Given the description of an element on the screen output the (x, y) to click on. 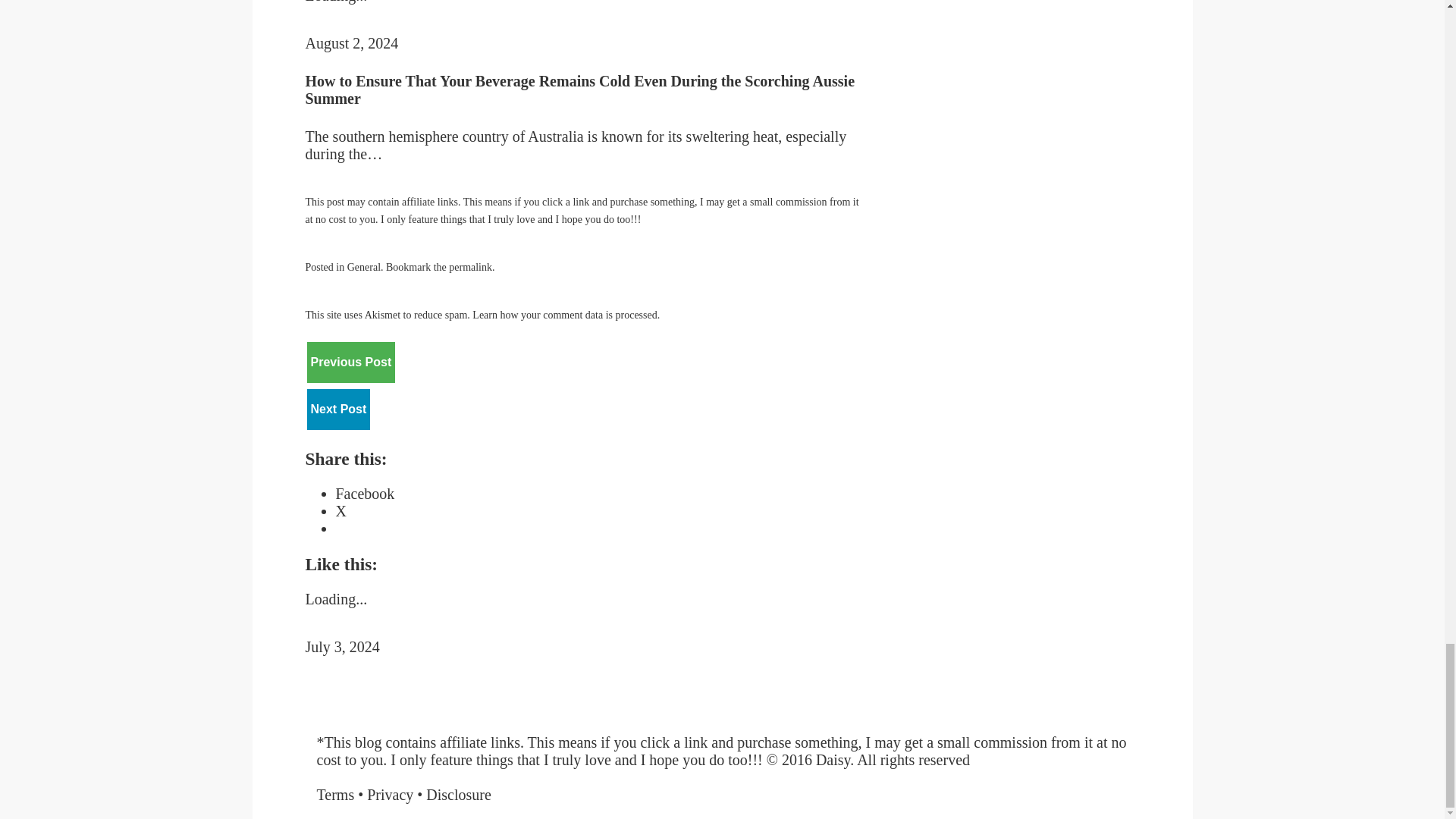
Book Club Monday (337, 408)
Click to share on Facebook (364, 493)
2 New Fashion Trends That You Need To Know About NOW! (350, 361)
